Given the description of an element on the screen output the (x, y) to click on. 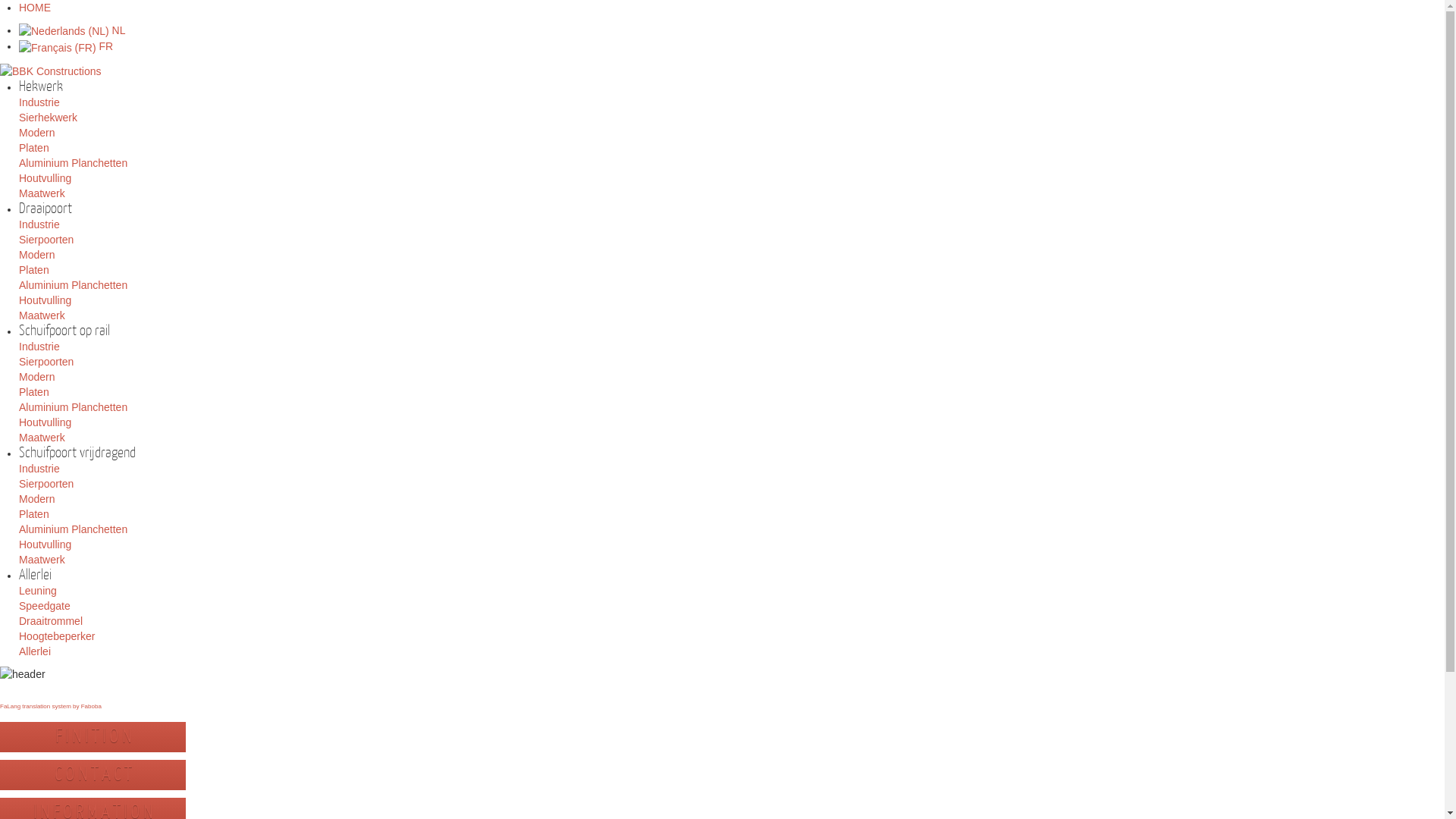
Sierpoorten Element type: text (45, 361)
Platen Element type: text (33, 514)
Sierpoorten Element type: text (45, 239)
Platen Element type: text (33, 147)
Maatwerk Element type: text (41, 559)
Industrie Element type: text (38, 224)
Industrie Element type: text (38, 102)
Maatwerk Element type: text (41, 193)
C O N T A C T Element type: text (92, 774)
Nederlands (NL) Element type: hover (63, 30)
Aluminium Planchetten Element type: text (72, 407)
F I N I T I O N Element type: text (92, 736)
Aluminium Planchetten Element type: text (72, 529)
Aluminium Planchetten Element type: text (72, 285)
Platen Element type: text (33, 391)
Modern Element type: text (36, 254)
Houtvulling Element type: text (44, 544)
Industrie Element type: text (38, 468)
Industrie Element type: text (38, 346)
Platen Element type: text (33, 269)
Draaitrommel Element type: text (50, 621)
Modern Element type: text (36, 132)
Maatwerk Element type: text (41, 437)
NL Element type: text (71, 30)
Modern Element type: text (36, 498)
Maatwerk Element type: text (41, 315)
Sierhekwerk Element type: text (47, 117)
FR Element type: text (65, 46)
Hoogtebeperker Element type: text (56, 636)
Houtvulling Element type: text (44, 300)
Allerlei Element type: text (34, 651)
Modern Element type: text (36, 376)
Speedgate Element type: text (44, 605)
Leuning Element type: text (37, 590)
FaLang translation system by Faboba Element type: text (50, 705)
HOME Element type: text (34, 7)
Sierpoorten Element type: text (45, 483)
Houtvulling Element type: text (44, 178)
Aluminium Planchetten Element type: text (72, 162)
Houtvulling Element type: text (44, 422)
